Given the description of an element on the screen output the (x, y) to click on. 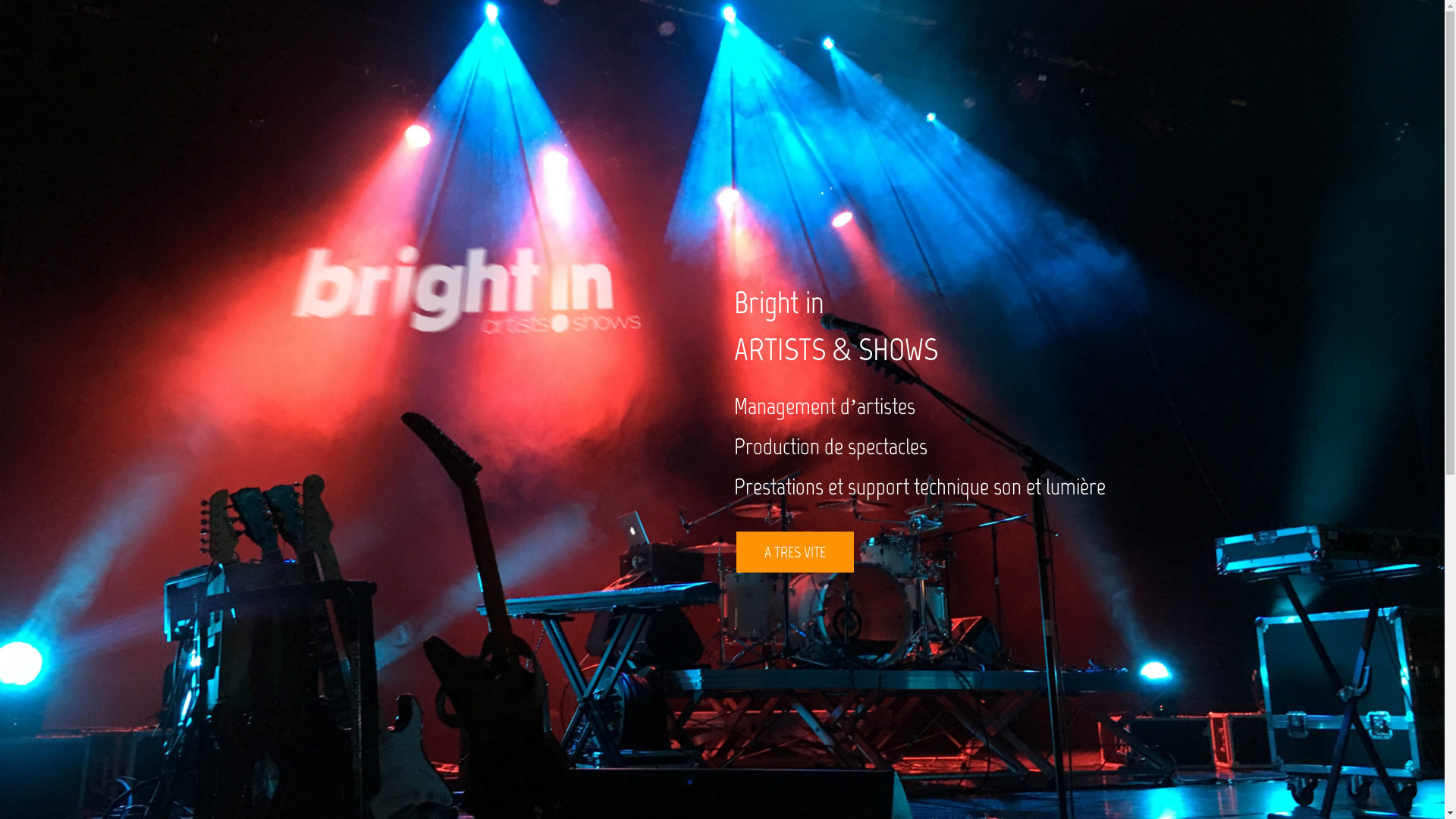
A TRES VITE Element type: text (794, 551)
